Given the description of an element on the screen output the (x, y) to click on. 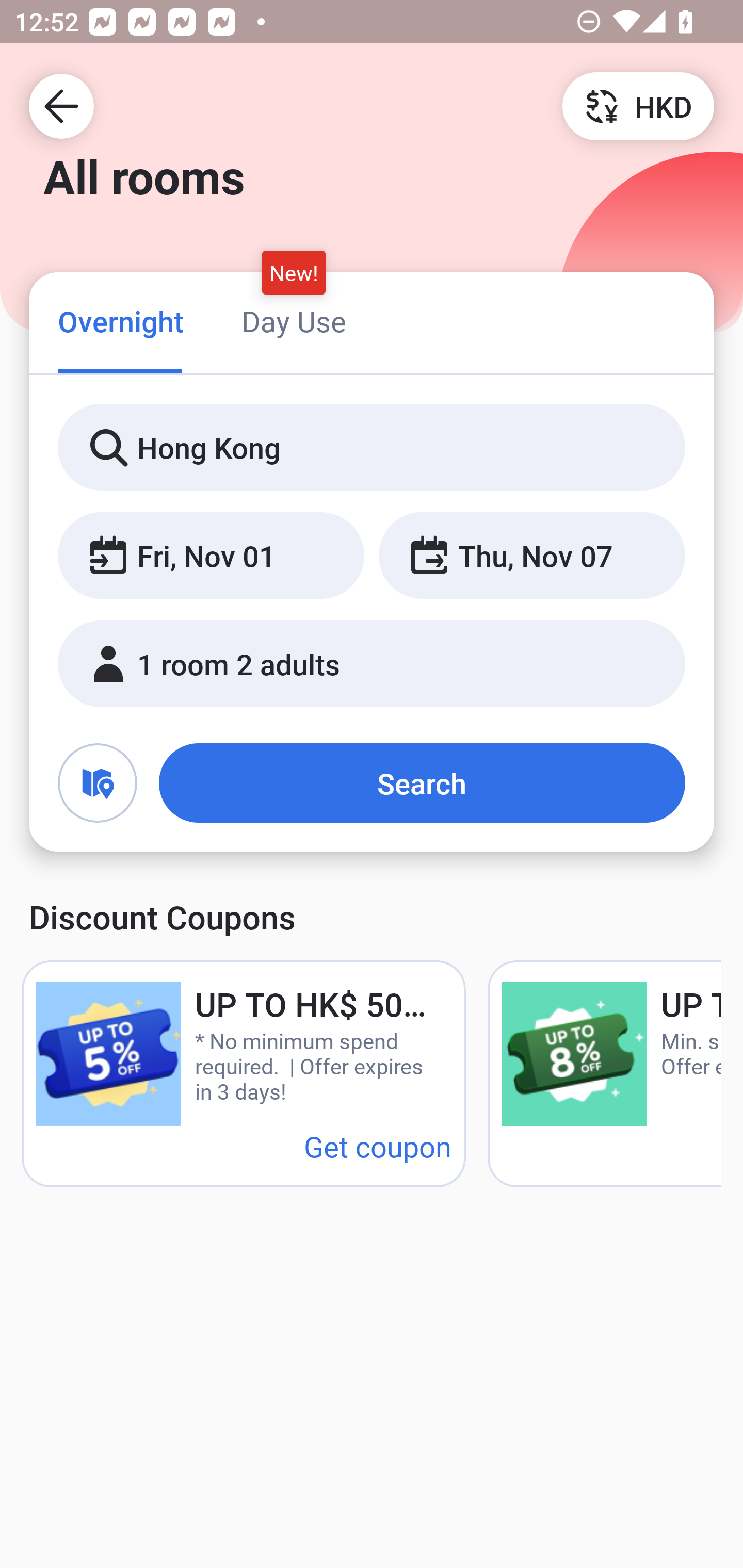
HKD (638, 105)
New! (294, 272)
Day Use (293, 321)
Hong Kong (371, 447)
Fri, Nov 01 (210, 555)
Thu, Nov 07 (531, 555)
1 room 2 adults (371, 663)
Search (422, 783)
Get coupon (377, 1146)
